Given the description of an element on the screen output the (x, y) to click on. 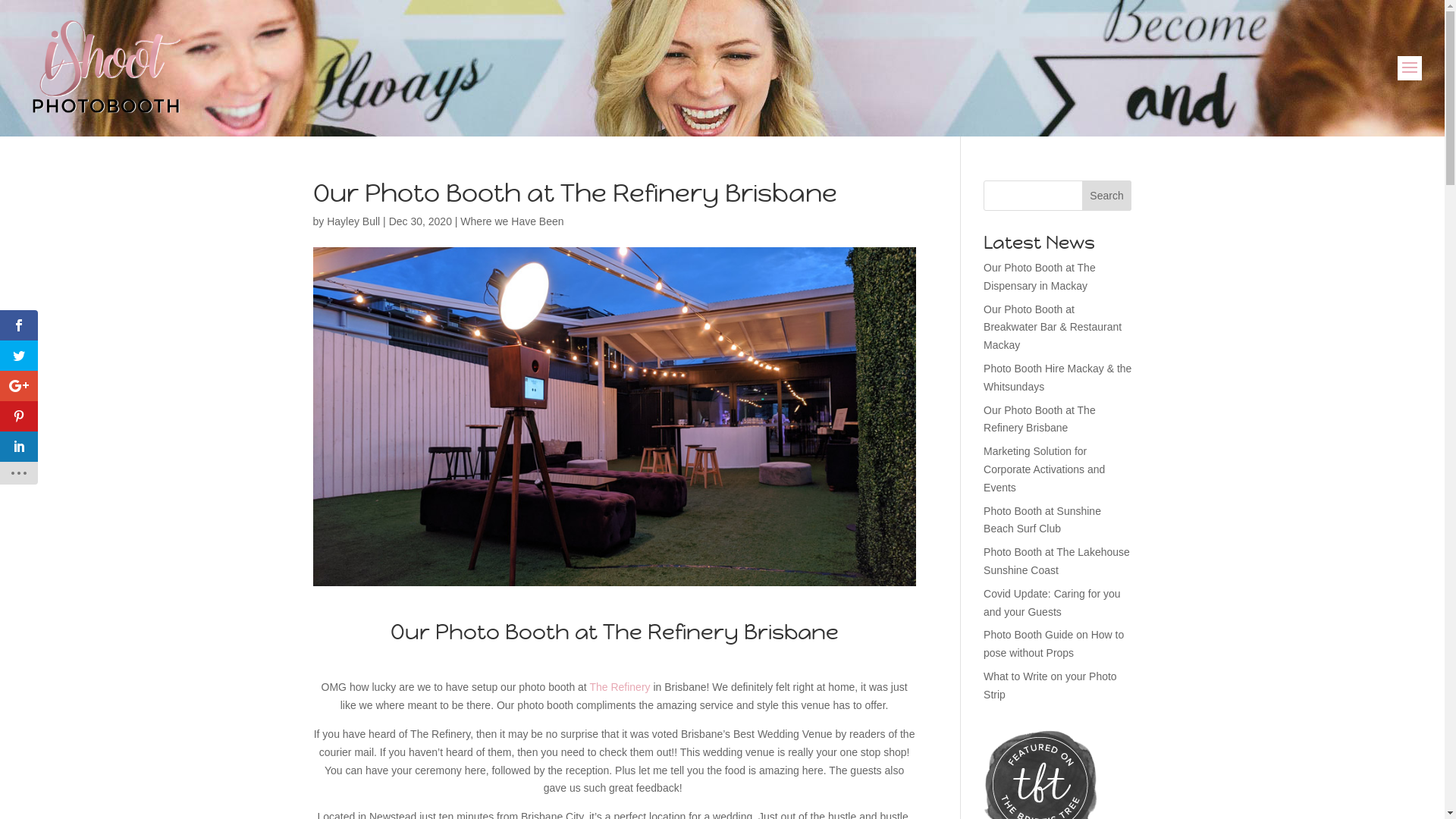
Covid Update: Caring for you and your Guests Element type: text (1051, 602)
Marketing Solution for Corporate Activations and Events Element type: text (1043, 469)
Our Photo Booth at The Dispensary in Mackay Element type: text (1039, 276)
What to Write on your Photo Strip Element type: text (1050, 685)
The Refinery Element type: text (619, 686)
Our Photo Booth at The Refinery Brisbane Element type: text (1039, 419)
Photo Booth at The Lakehouse Sunshine Coast Element type: text (1056, 561)
Our Photo Booth at Breakwater Bar & Restaurant Mackay Element type: text (1052, 327)
Hayley Bull Element type: text (352, 221)
Where we Have Been Element type: text (511, 221)
Search Element type: text (1107, 195)
Photo Booth Hire Mackay & the Whitsundays Element type: text (1057, 377)
Photo Booth at Sunshine Beach Surf Club Element type: text (1042, 520)
Photo Booth Guide on How to pose without Props Element type: text (1053, 643)
